Given the description of an element on the screen output the (x, y) to click on. 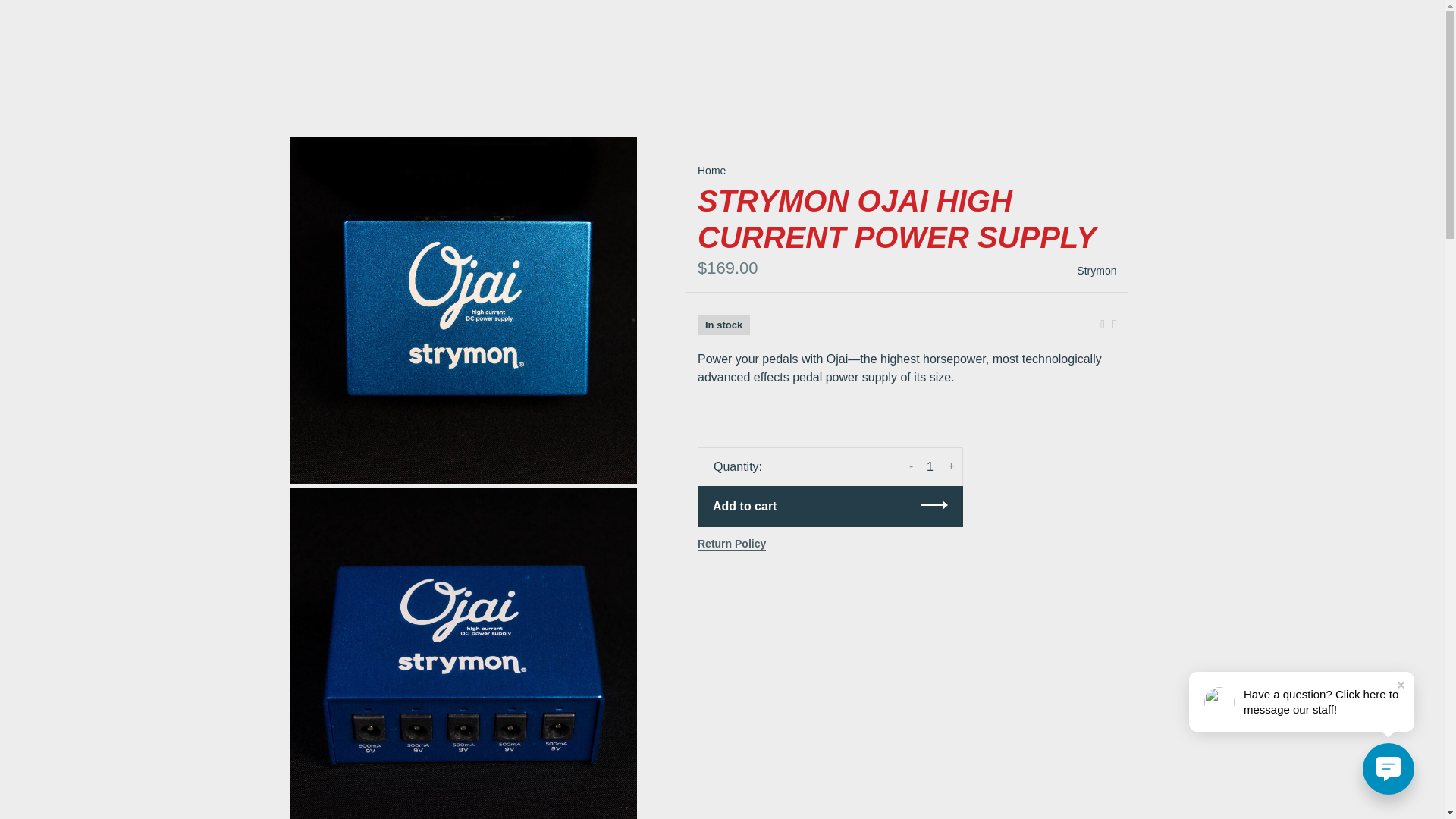
1 (929, 467)
